Given the description of an element on the screen output the (x, y) to click on. 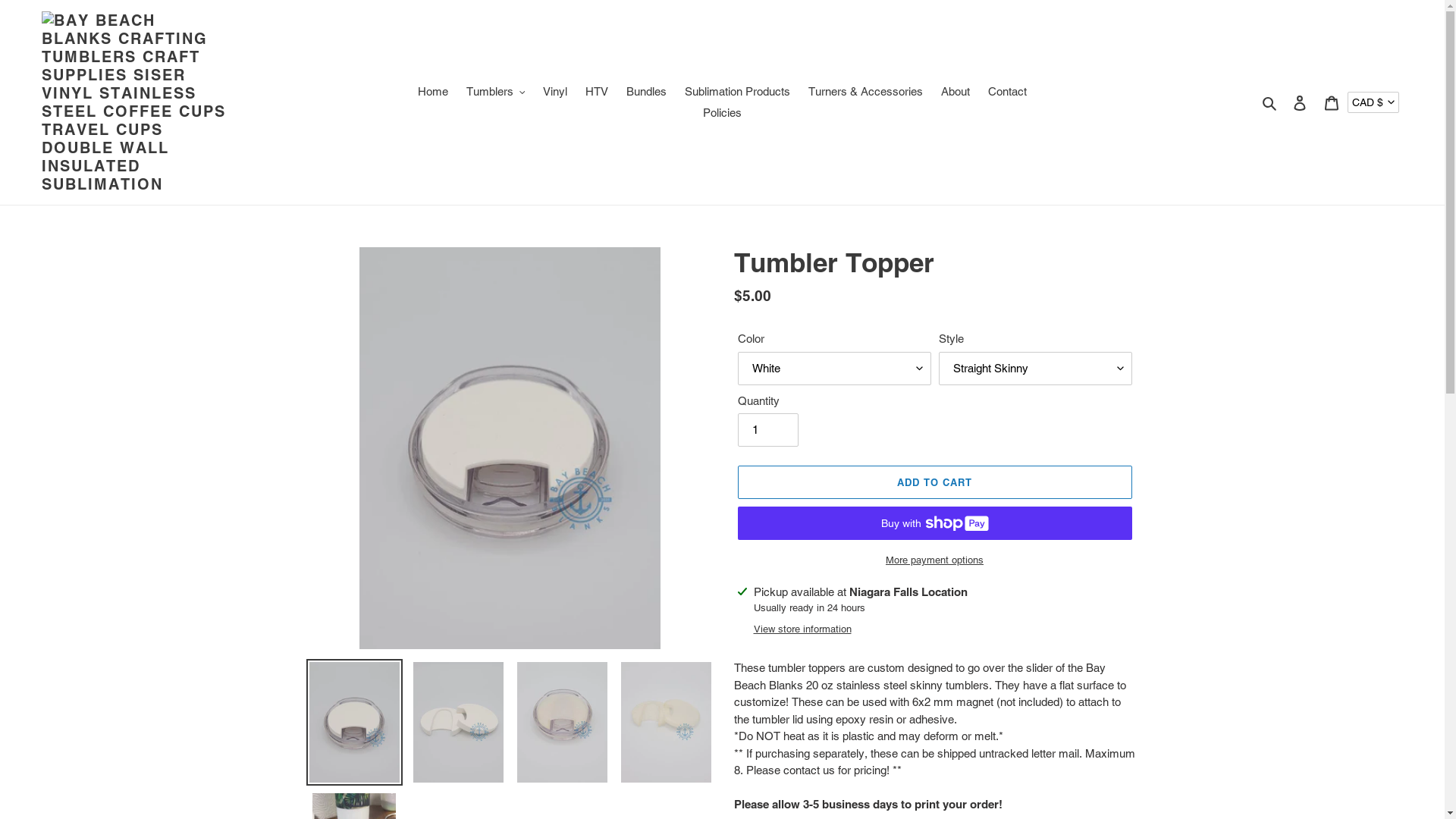
CAD $ Element type: text (1373, 102)
Search Element type: text (1270, 102)
Contact Element type: text (1007, 91)
HTV Element type: text (596, 91)
ADD TO CART Element type: text (934, 481)
Tumblers Element type: text (495, 91)
View store information Element type: text (802, 629)
Bundles Element type: text (646, 91)
Cart Element type: text (1331, 102)
Home Element type: text (432, 91)
Log in Element type: text (1299, 102)
Policies Element type: text (722, 113)
Vinyl Element type: text (554, 91)
Turners & Accessories Element type: text (865, 91)
Sublimation Products Element type: text (737, 91)
More payment options Element type: text (934, 560)
About Element type: text (955, 91)
